Given the description of an element on the screen output the (x, y) to click on. 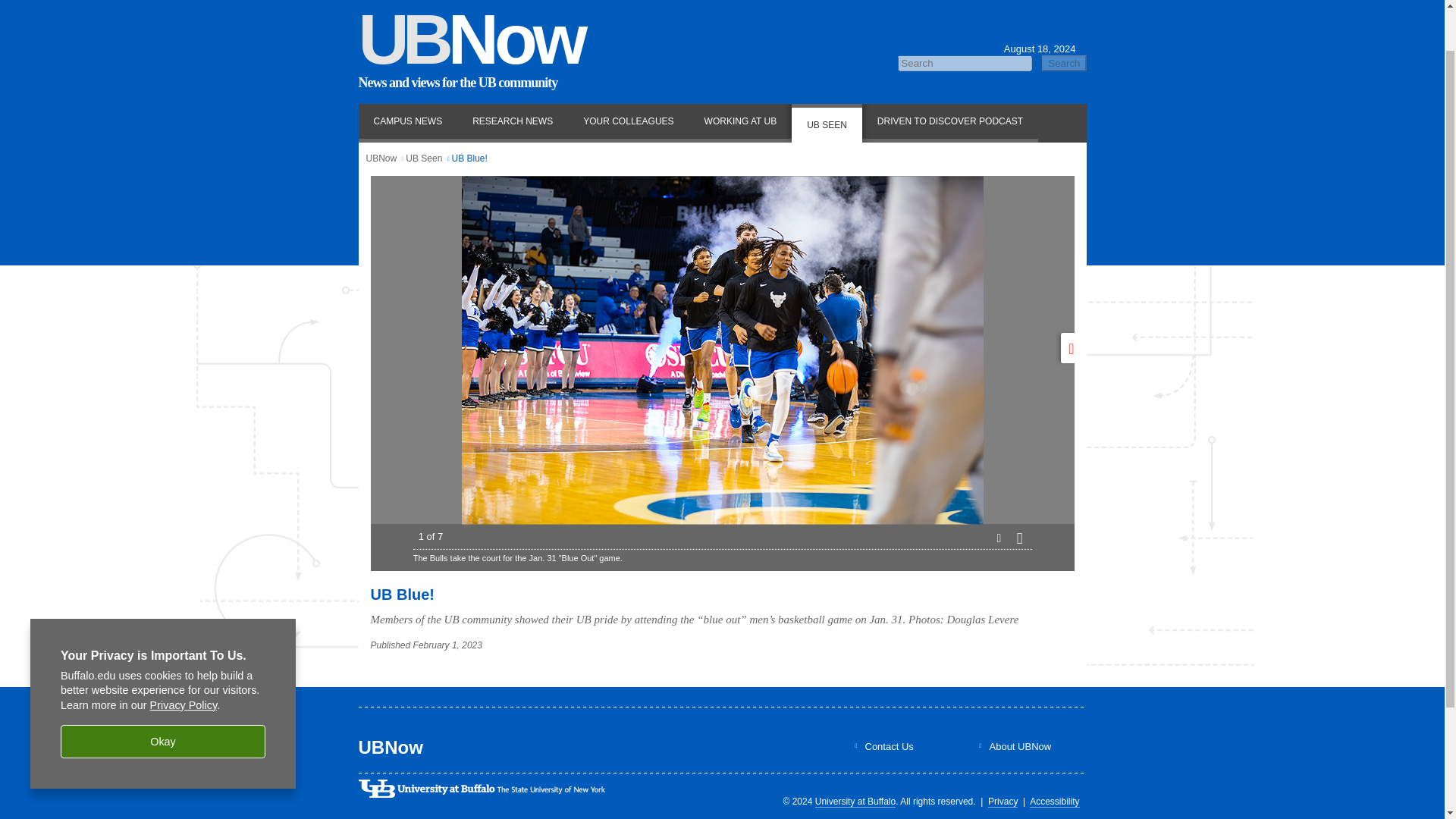
CAMPUS NEWS (407, 123)
Contact Us (888, 746)
University at Buffalo (855, 801)
UB SEEN (826, 123)
DRIVEN TO DISCOVER PODCAST (949, 123)
Okay (162, 692)
Privacy Policy (182, 655)
YOUR COLLEAGUES (627, 123)
UBNow (380, 158)
Privacy (1002, 801)
